Given the description of an element on the screen output the (x, y) to click on. 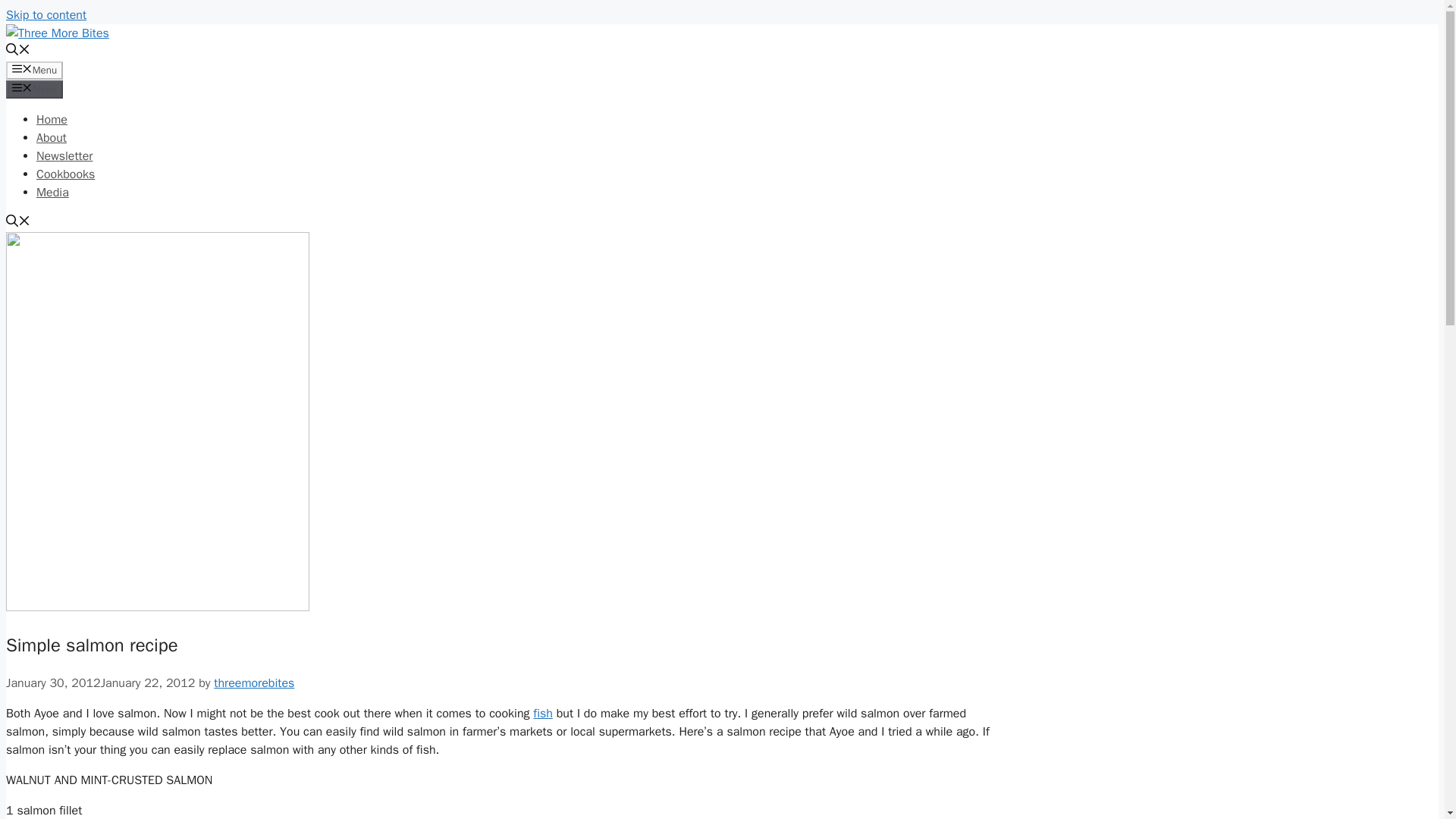
Cookbooks (65, 174)
About (51, 137)
threemorebites (254, 683)
Home (51, 119)
Menu (33, 89)
Skip to content (45, 14)
View all posts by threemorebites (254, 683)
Media (52, 192)
Menu (33, 70)
Skip to content (45, 14)
